Given the description of an element on the screen output the (x, y) to click on. 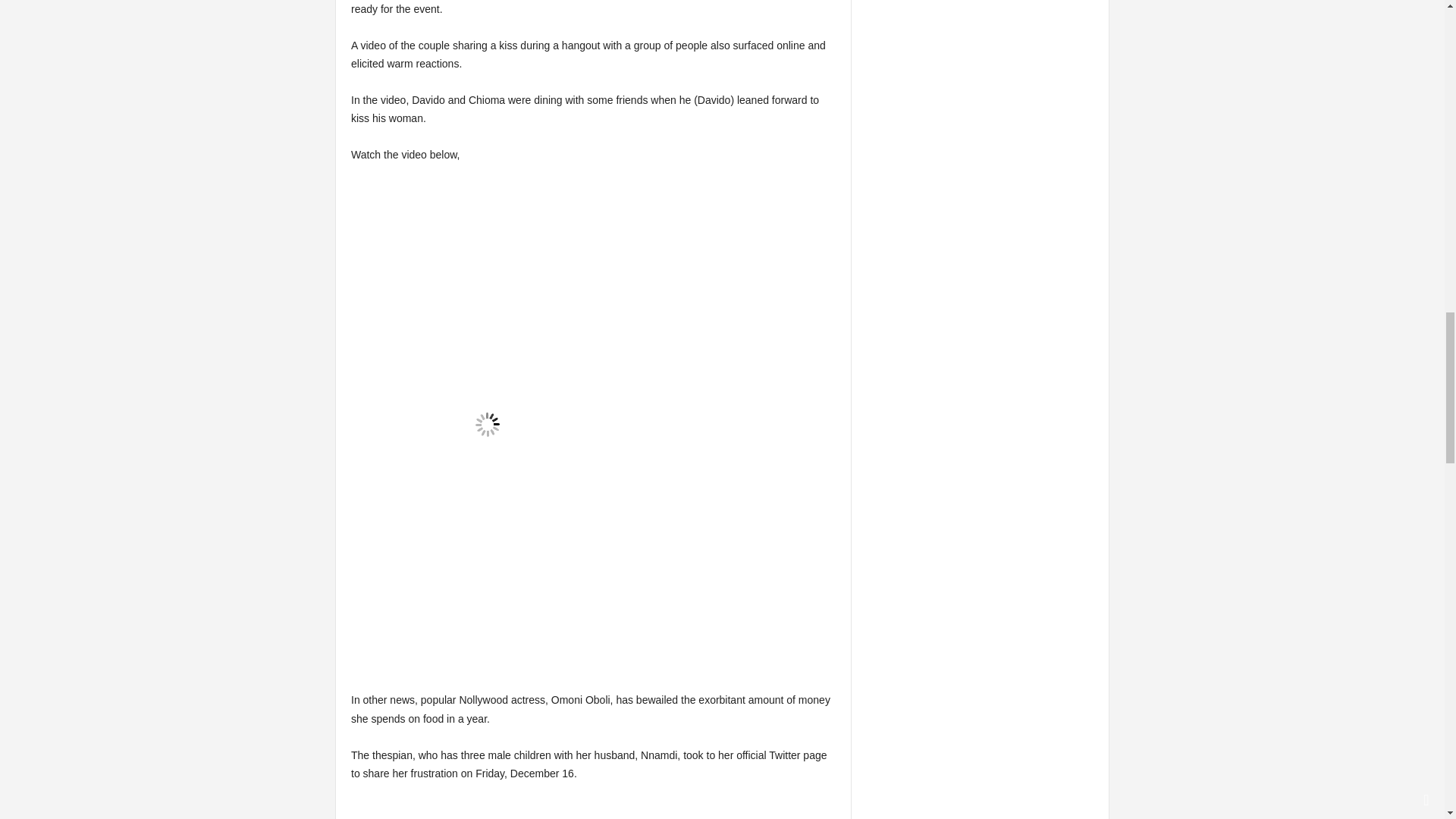
Advertisement (592, 809)
